Given the description of an element on the screen output the (x, y) to click on. 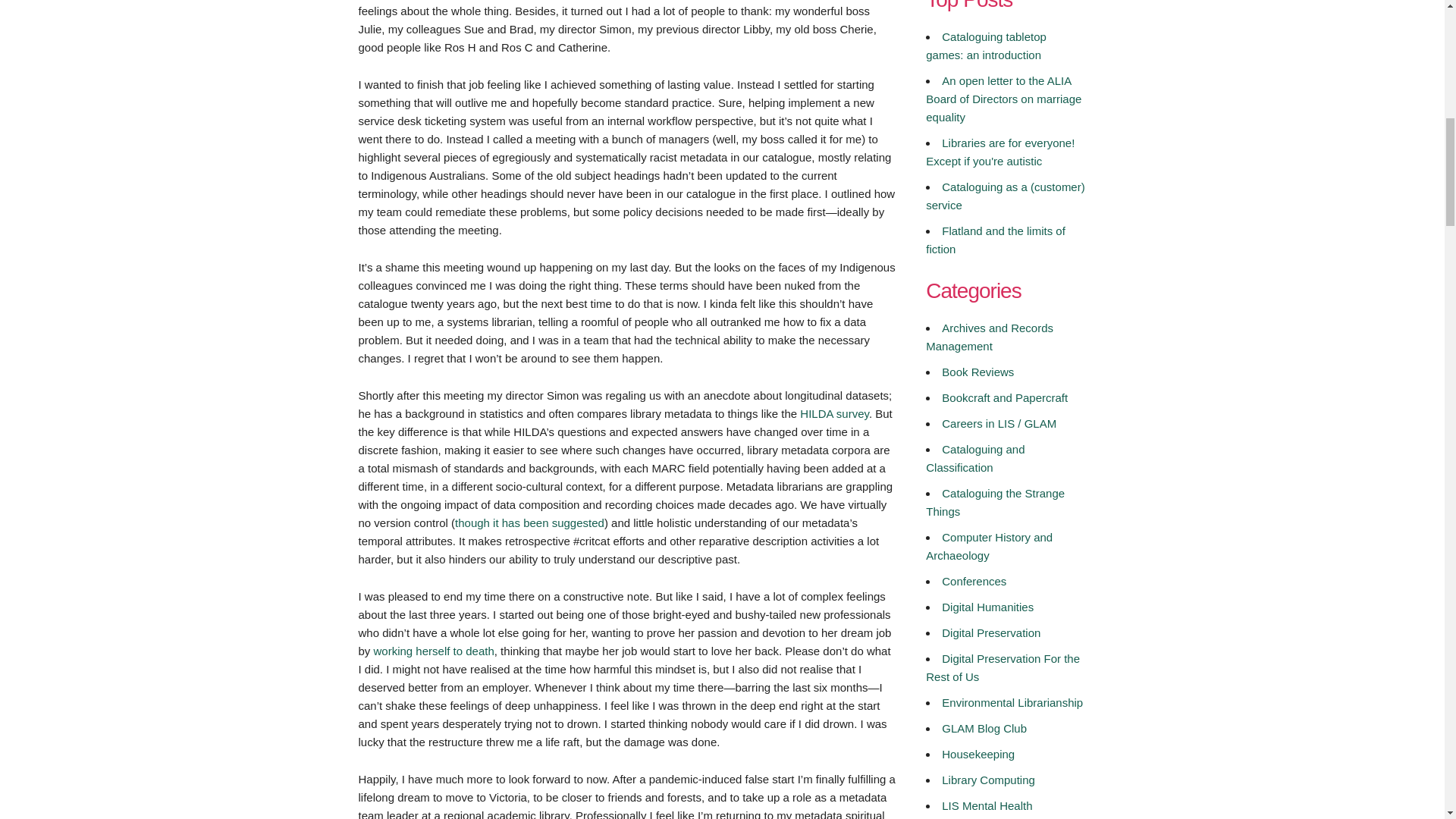
HILDA survey (834, 413)
though it has been suggested (529, 522)
working herself to death (434, 650)
